Given the description of an element on the screen output the (x, y) to click on. 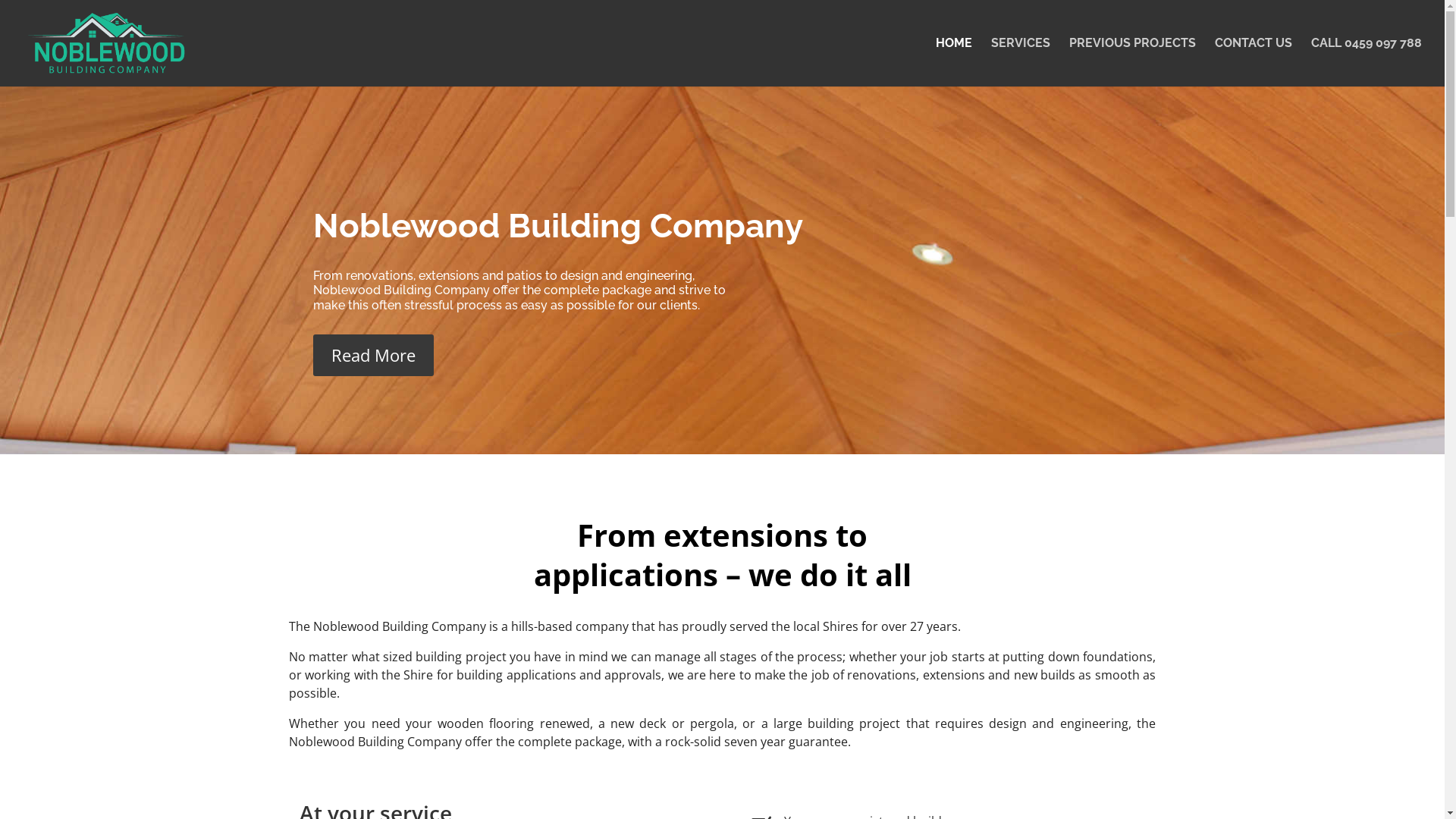
HOME Element type: text (953, 61)
PREVIOUS PROJECTS Element type: text (1132, 61)
Read More Element type: text (372, 355)
CONTACT US Element type: text (1253, 61)
SERVICES Element type: text (1020, 61)
CALL 0459 097 788 Element type: text (1366, 61)
